Given the description of an element on the screen output the (x, y) to click on. 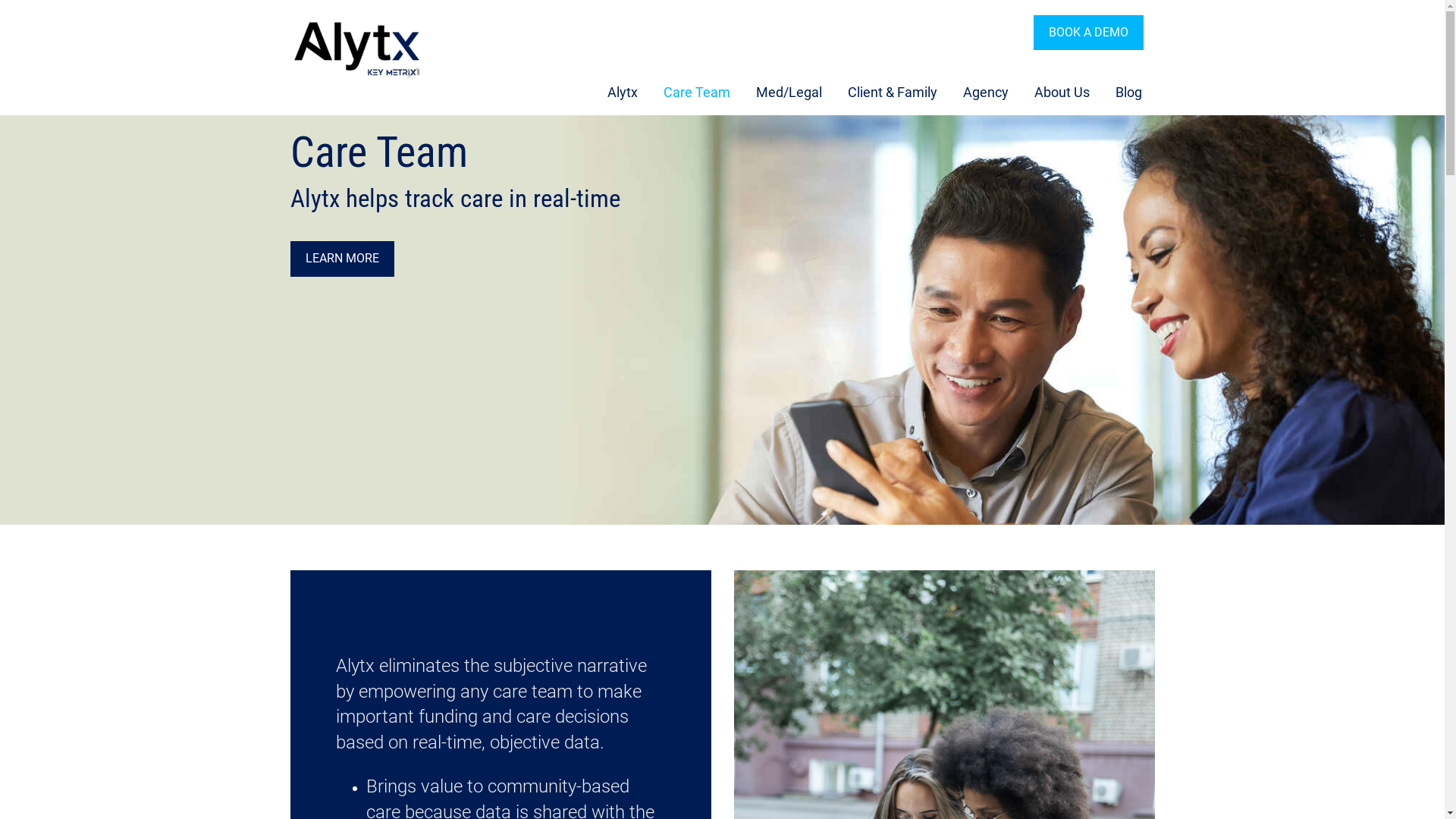
Client & Family Element type: text (891, 92)
Alytx by Key Metrix Element type: text (389, 47)
Blog Element type: text (1128, 92)
Care Team Element type: text (696, 92)
LEARN MORE Element type: text (341, 258)
Agency Element type: text (984, 92)
Med/Legal Element type: text (788, 92)
About Us Element type: text (1060, 92)
BOOK A DEMO Element type: text (1087, 32)
Alytx Element type: text (622, 92)
